Given the description of an element on the screen output the (x, y) to click on. 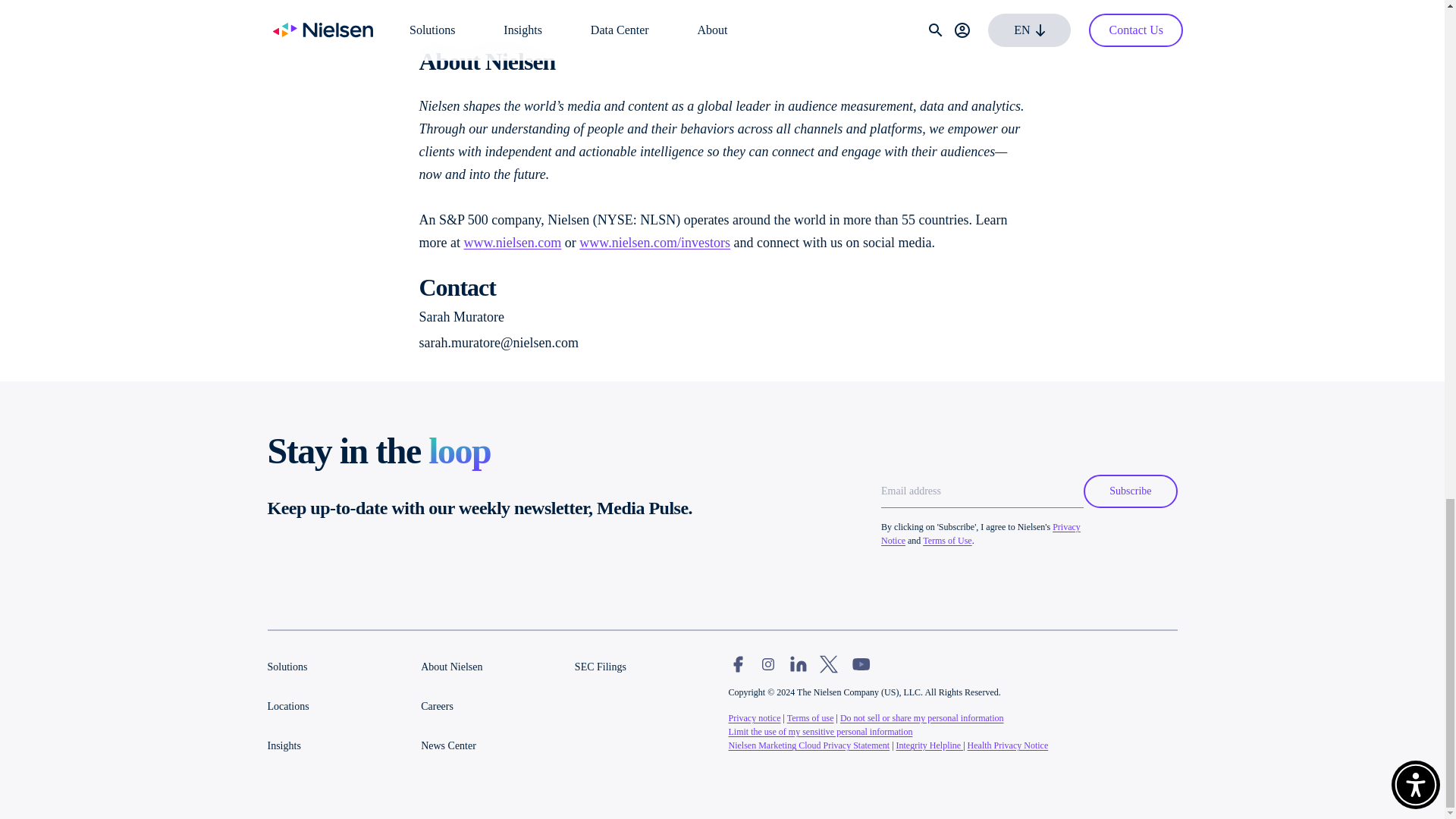
Subscribe (1129, 491)
